Given the description of an element on the screen output the (x, y) to click on. 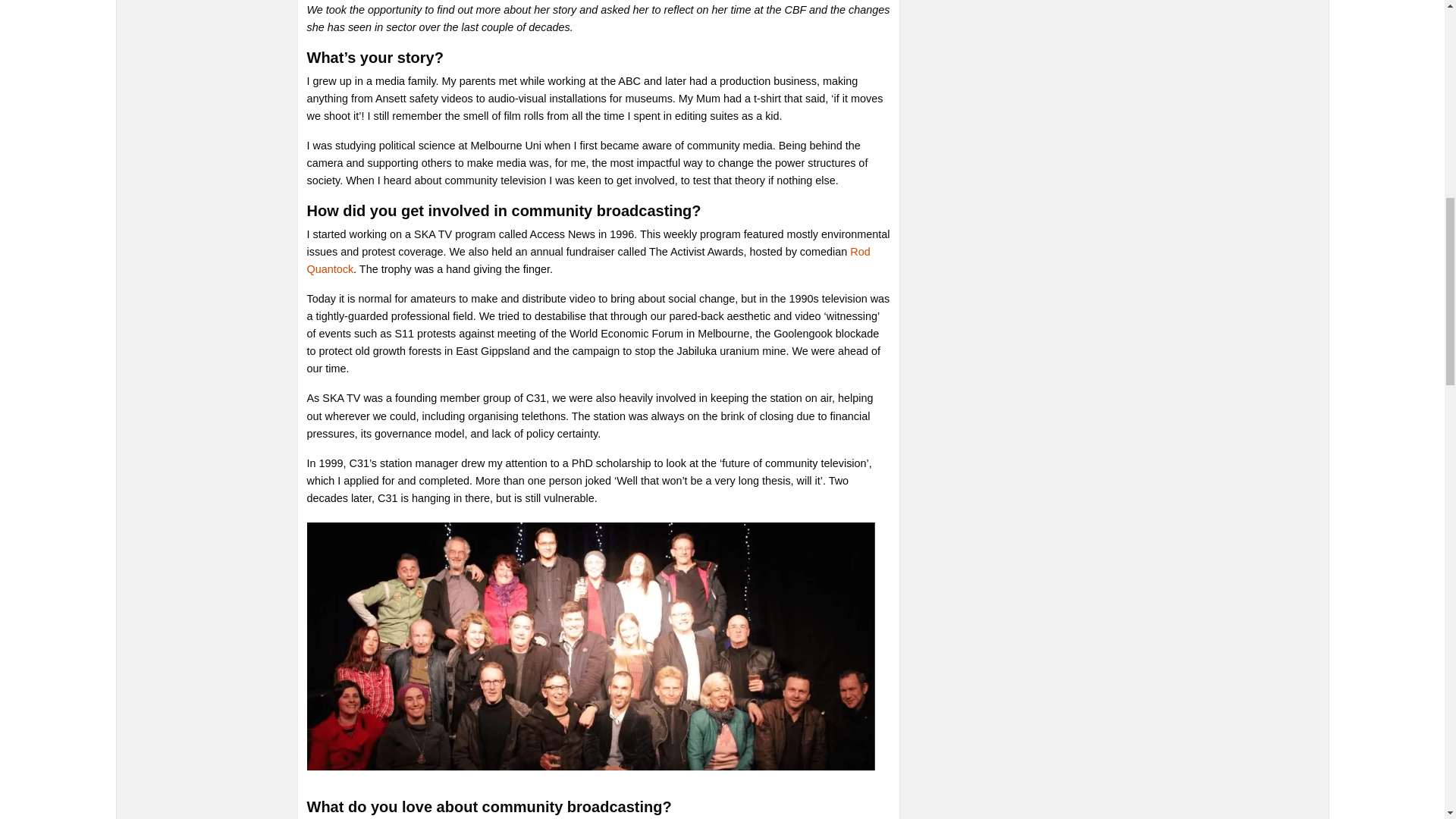
Rod Quantock (587, 260)
